Given the description of an element on the screen output the (x, y) to click on. 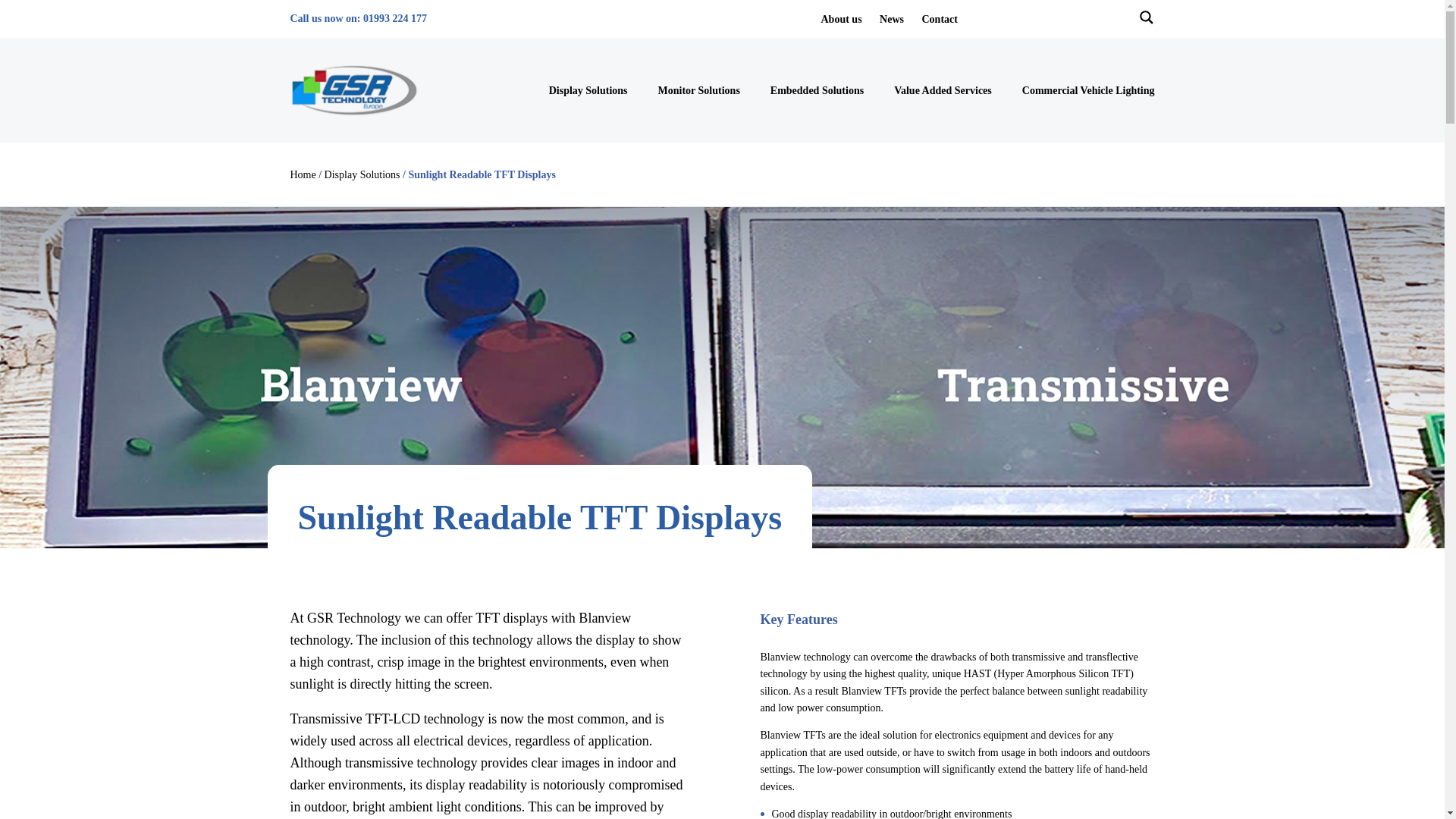
Embedded Solutions (816, 89)
Commercial Vehicle Lighting (1088, 89)
01993 224 177 (394, 18)
News (891, 19)
Value Added Services (942, 89)
About us (841, 19)
Display Solutions (362, 174)
Home (302, 174)
Contact (938, 19)
